Given the description of an element on the screen output the (x, y) to click on. 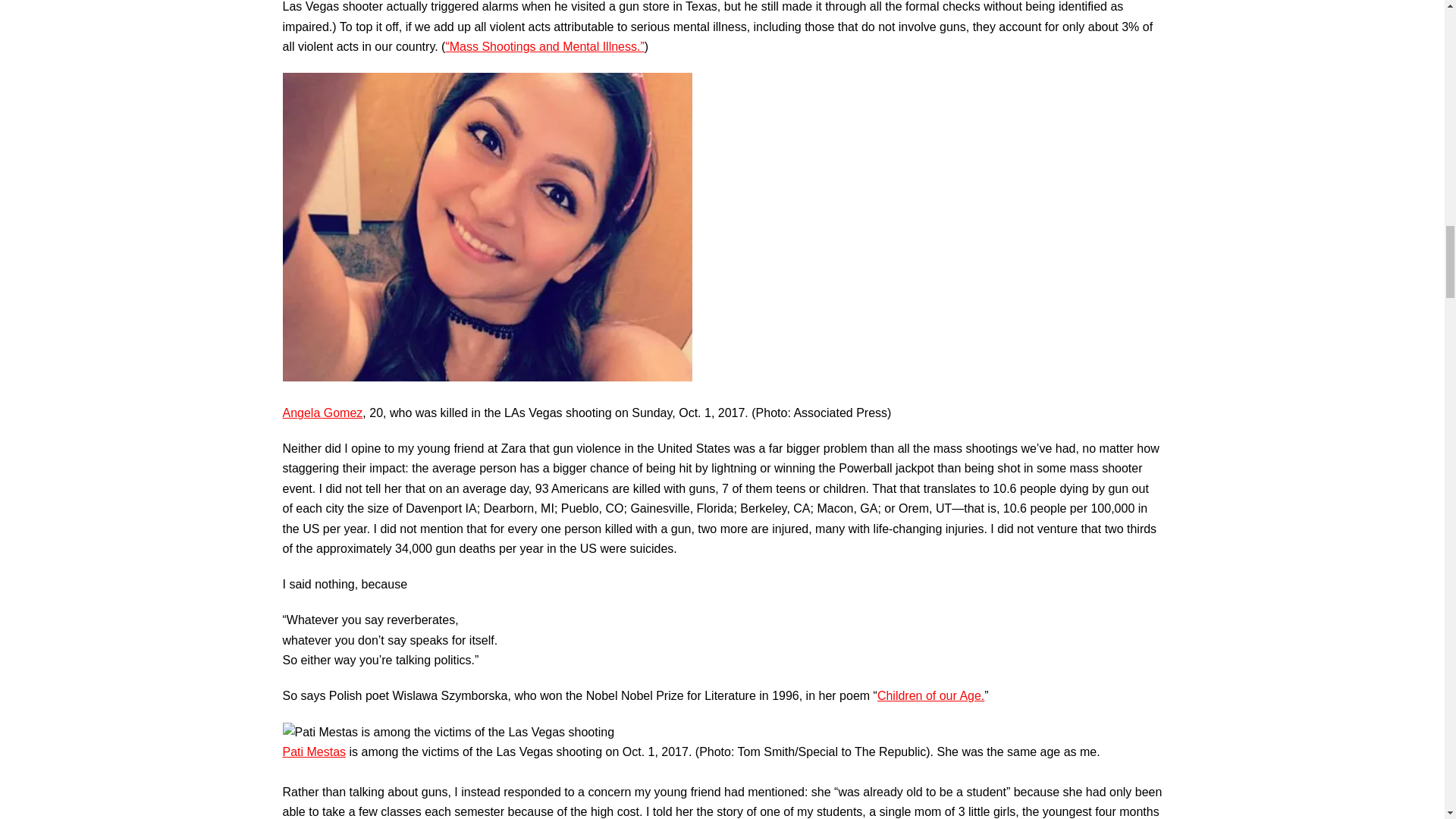
Pati Mestas (314, 751)
Angela Gomez (322, 412)
Children of our Age. (930, 695)
